Given the description of an element on the screen output the (x, y) to click on. 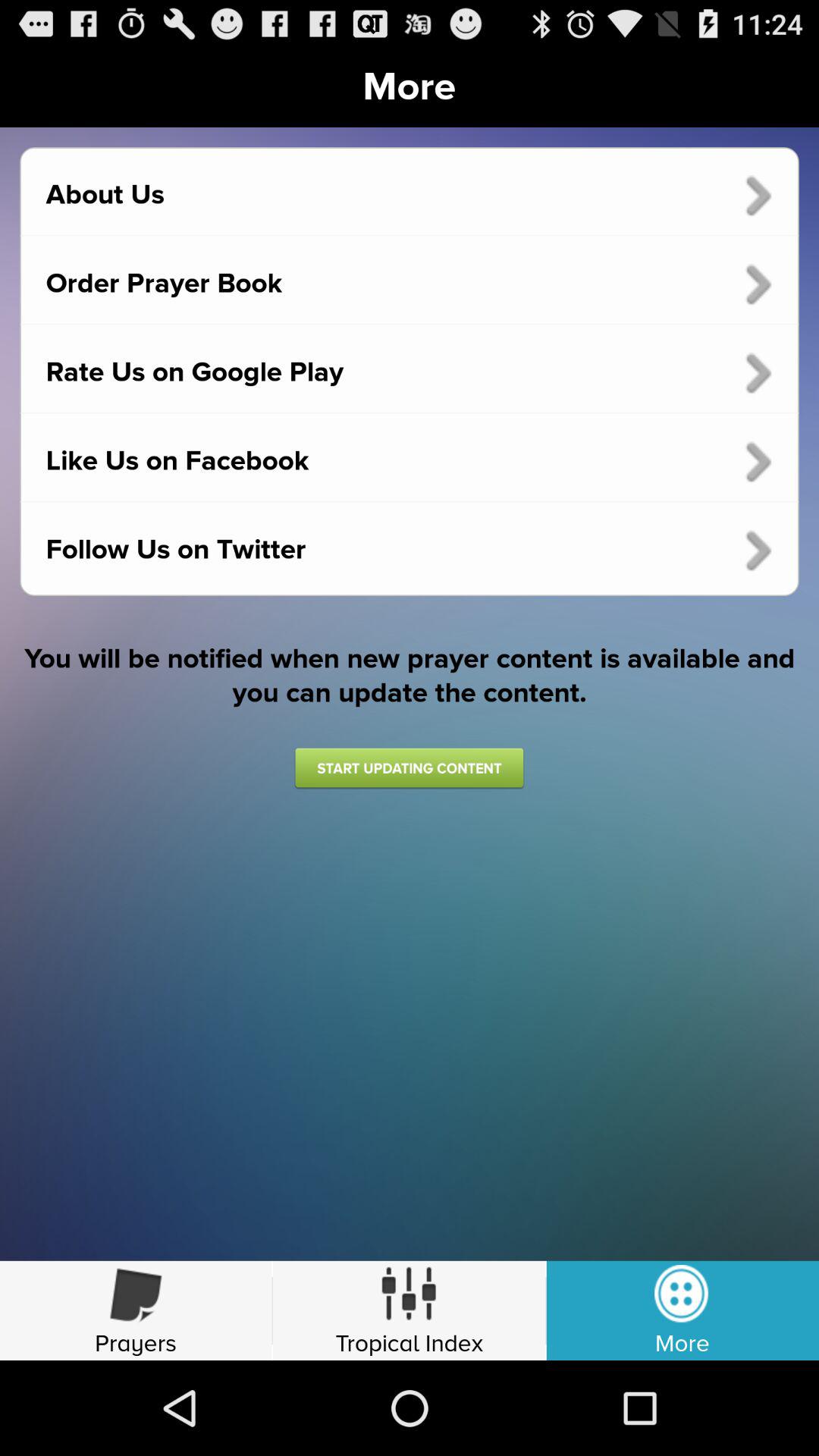
update content (409, 767)
